Given the description of an element on the screen output the (x, y) to click on. 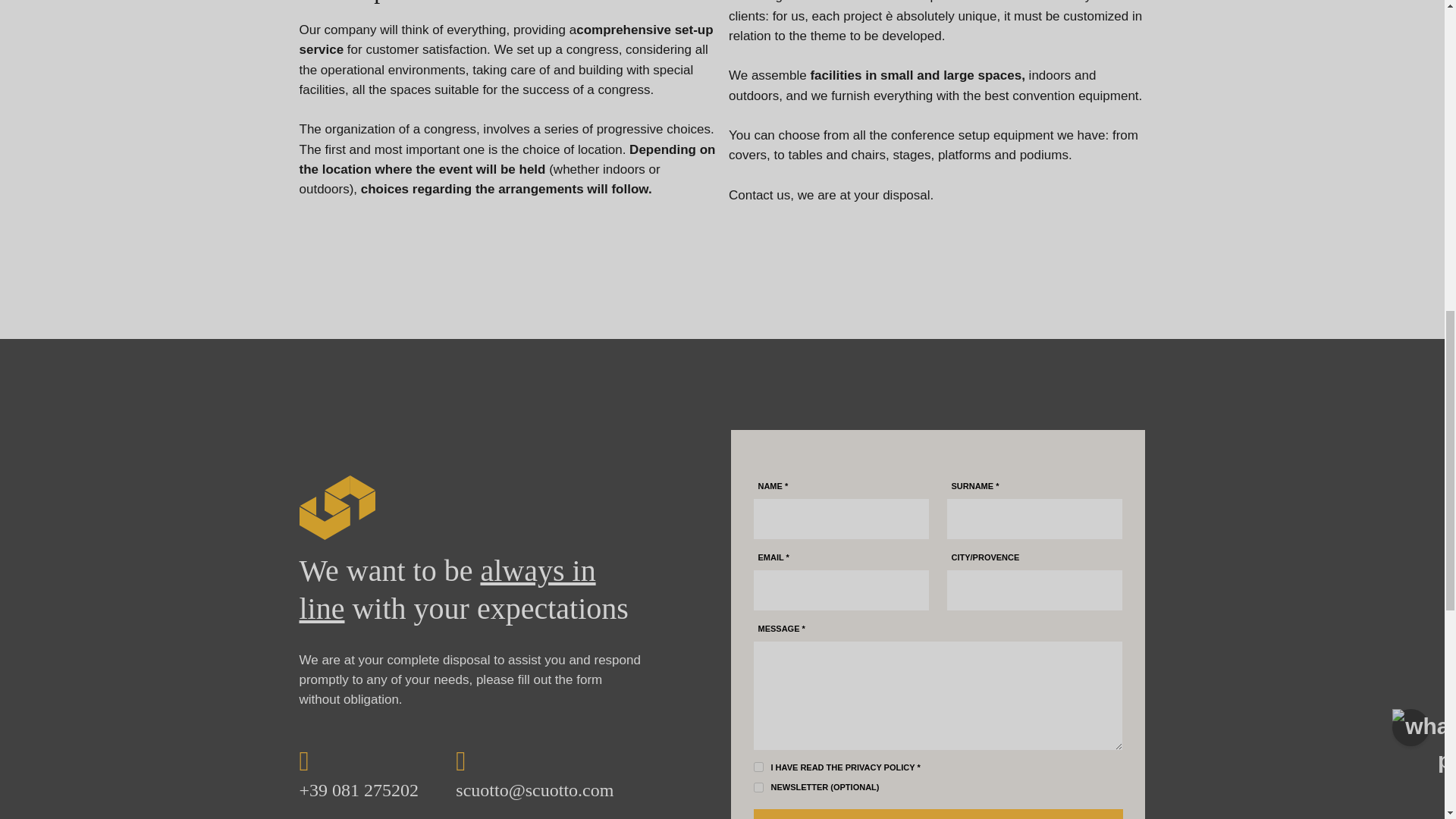
true (758, 767)
1 (758, 787)
SEND REQUEST (938, 814)
